Given the description of an element on the screen output the (x, y) to click on. 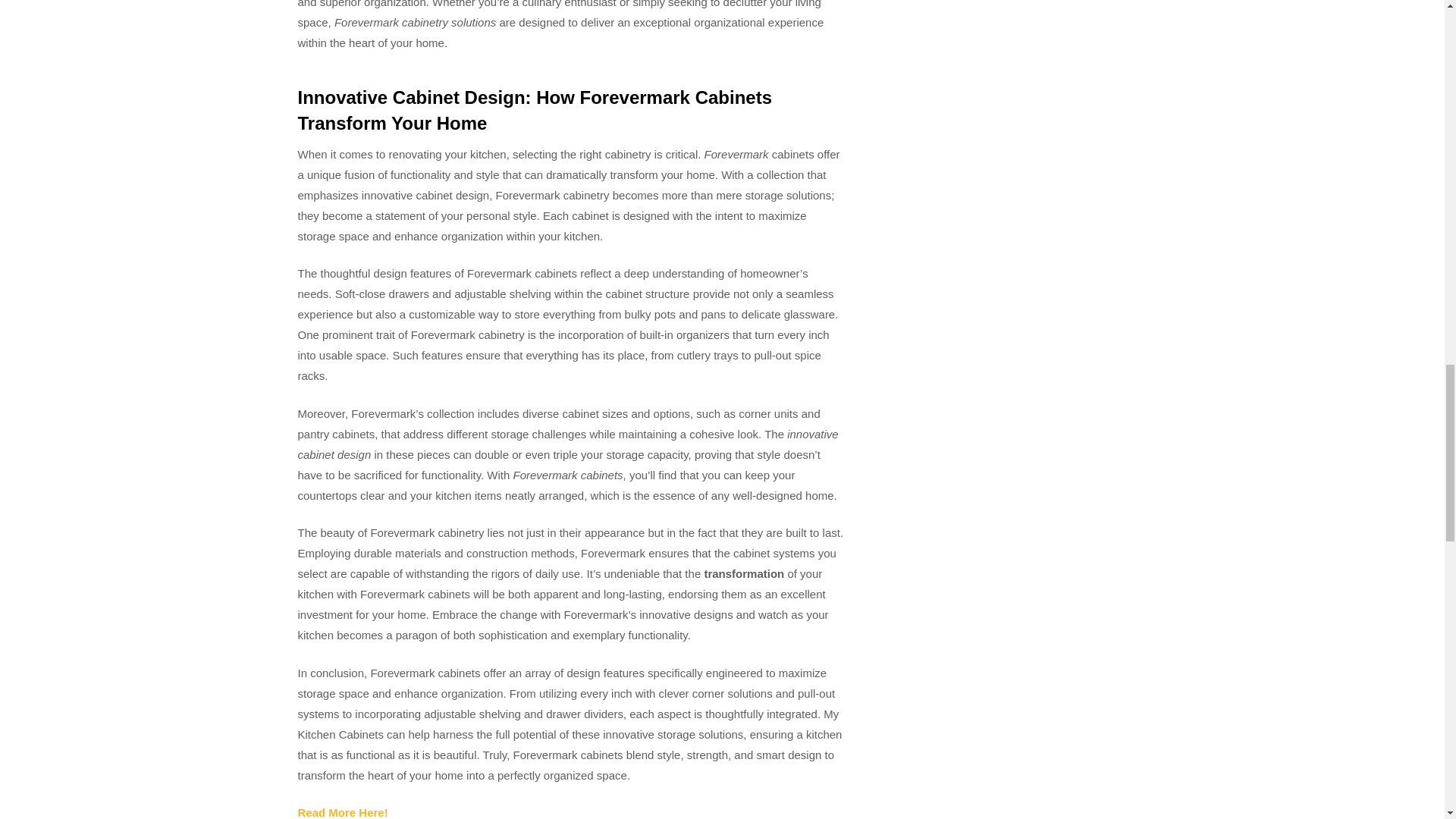
Read More Here! (342, 812)
